Given the description of an element on the screen output the (x, y) to click on. 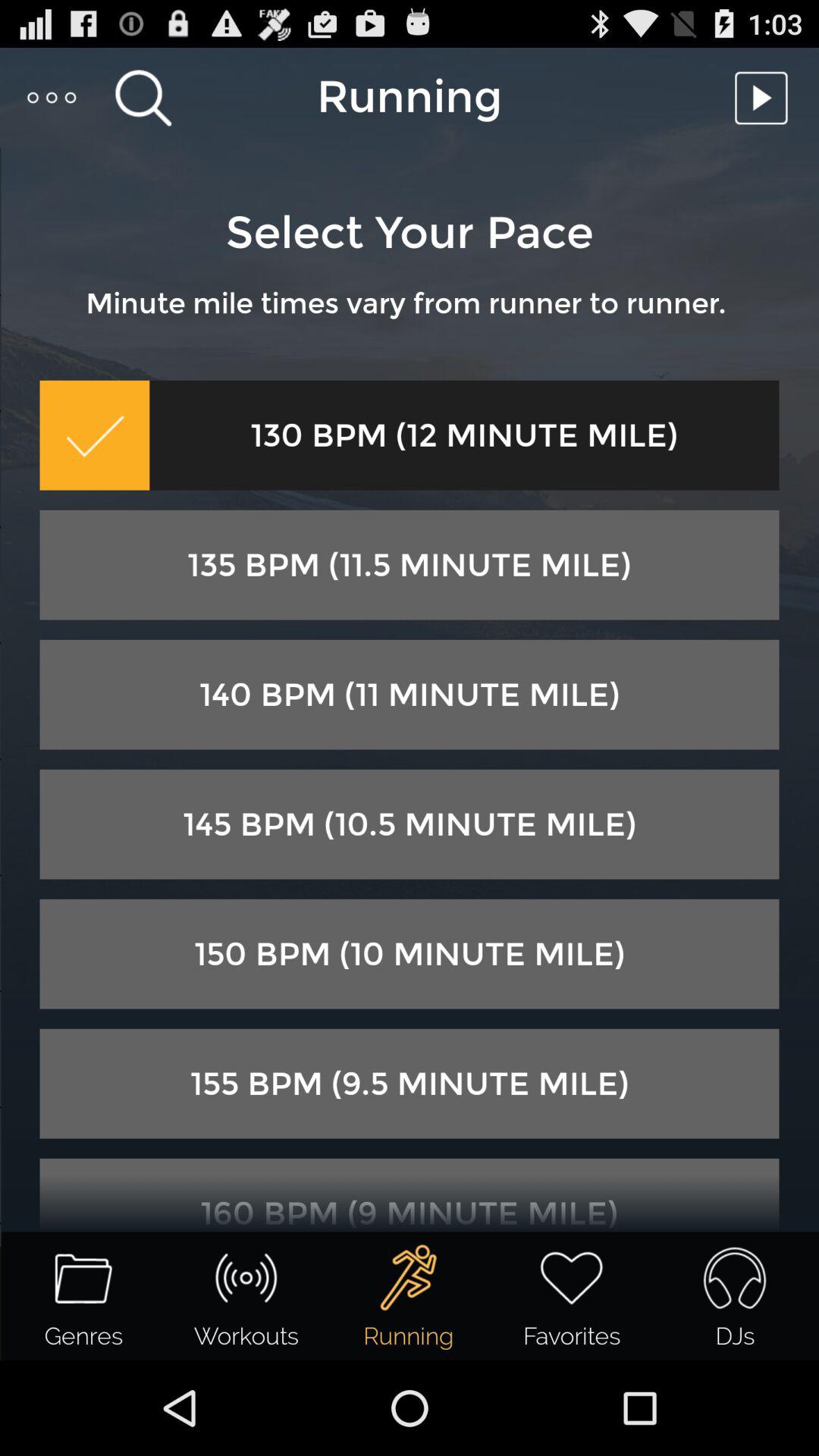
click icon next to the 130 bpm 12 (94, 435)
